Given the description of an element on the screen output the (x, y) to click on. 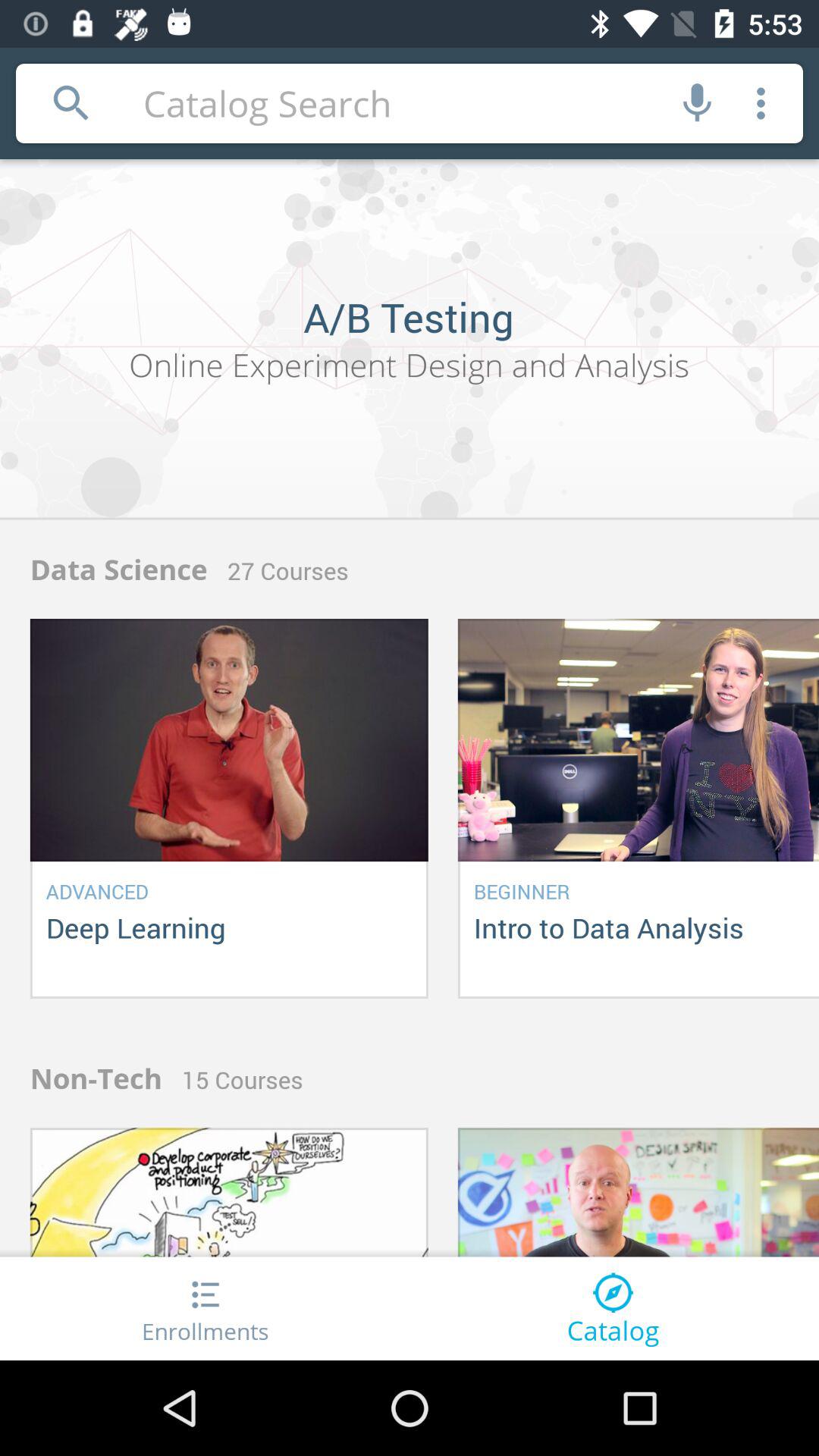
use voice search (697, 103)
